Given the description of an element on the screen output the (x, y) to click on. 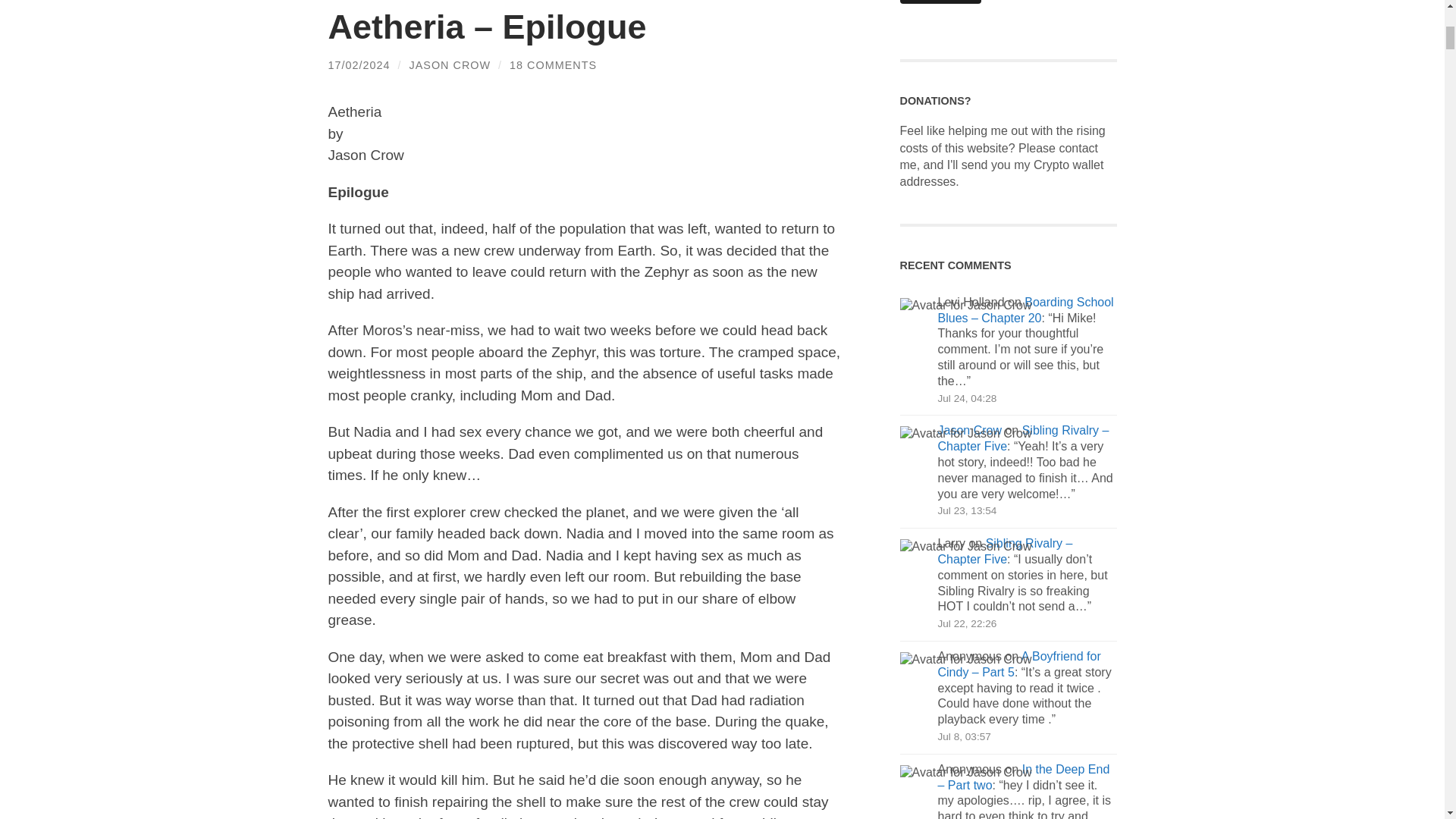
Subscribe (939, 2)
Posts by Jason Crow (450, 64)
